Given the description of an element on the screen output the (x, y) to click on. 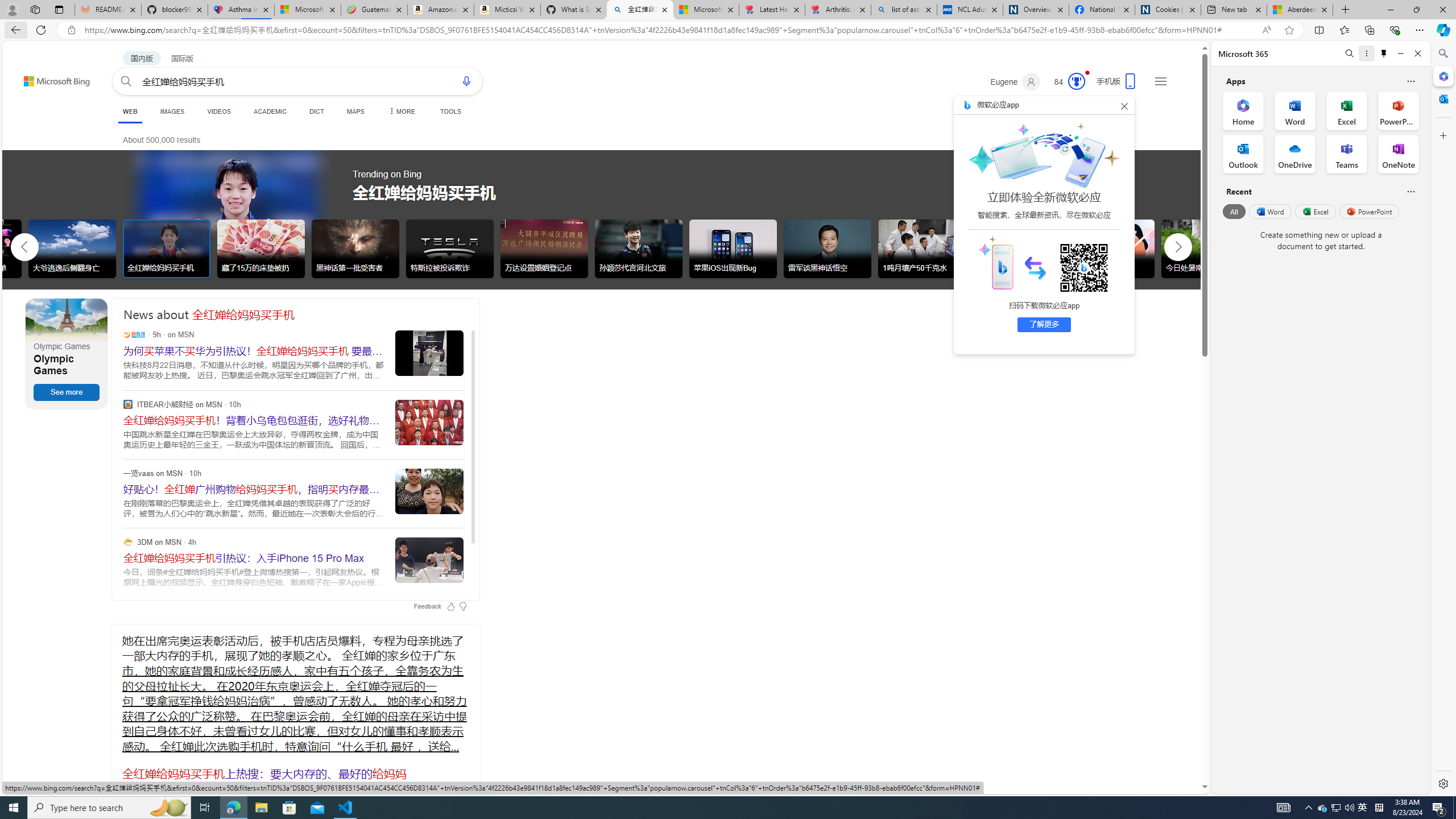
ACADEMIC (269, 111)
Word (1269, 210)
Search more (1179, 753)
WEB (129, 112)
Aberdeen, Hong Kong SAR hourly forecast | Microsoft Weather (1300, 9)
